Given the description of an element on the screen output the (x, y) to click on. 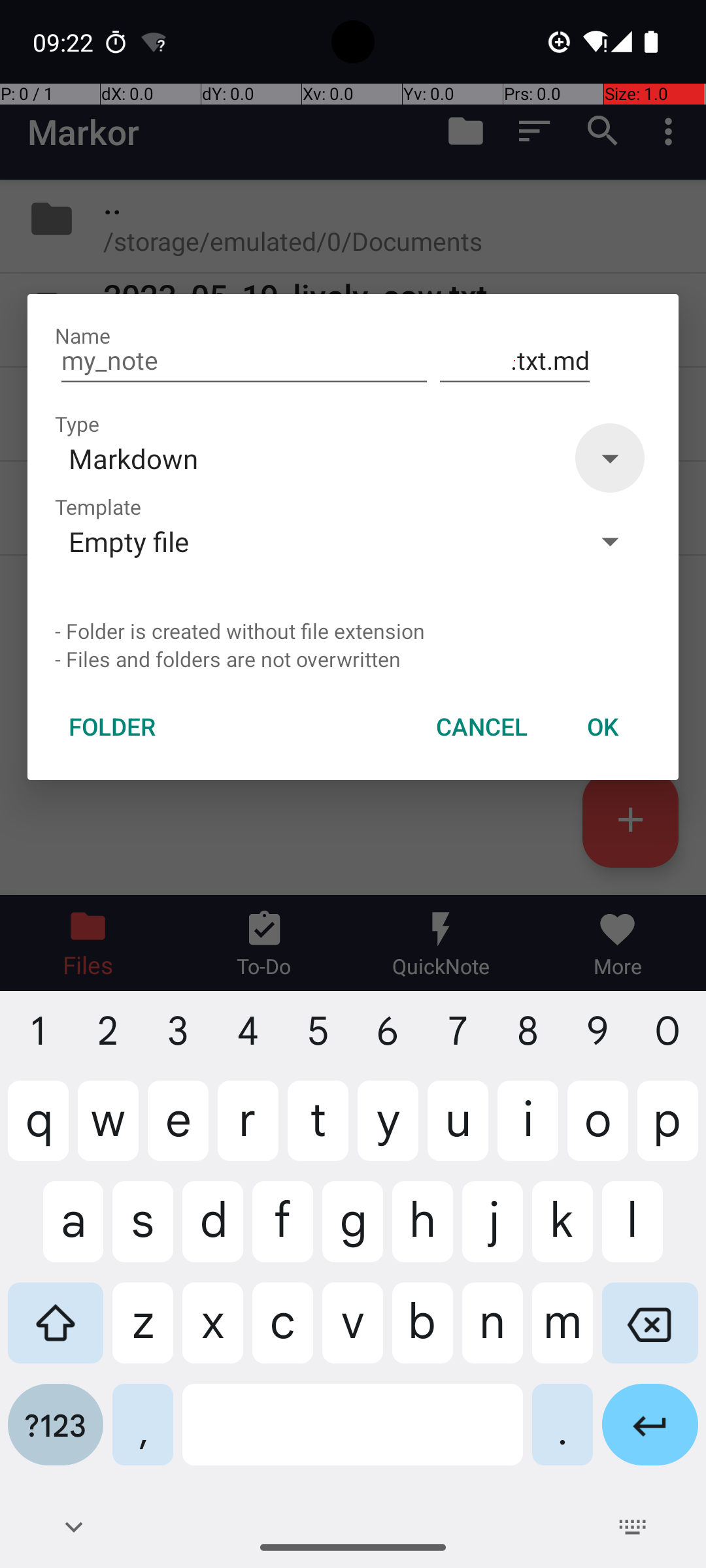
.txt.md Element type: android.widget.EditText (514, 360)
09:22 Element type: android.widget.TextView (64, 41)
